Given the description of an element on the screen output the (x, y) to click on. 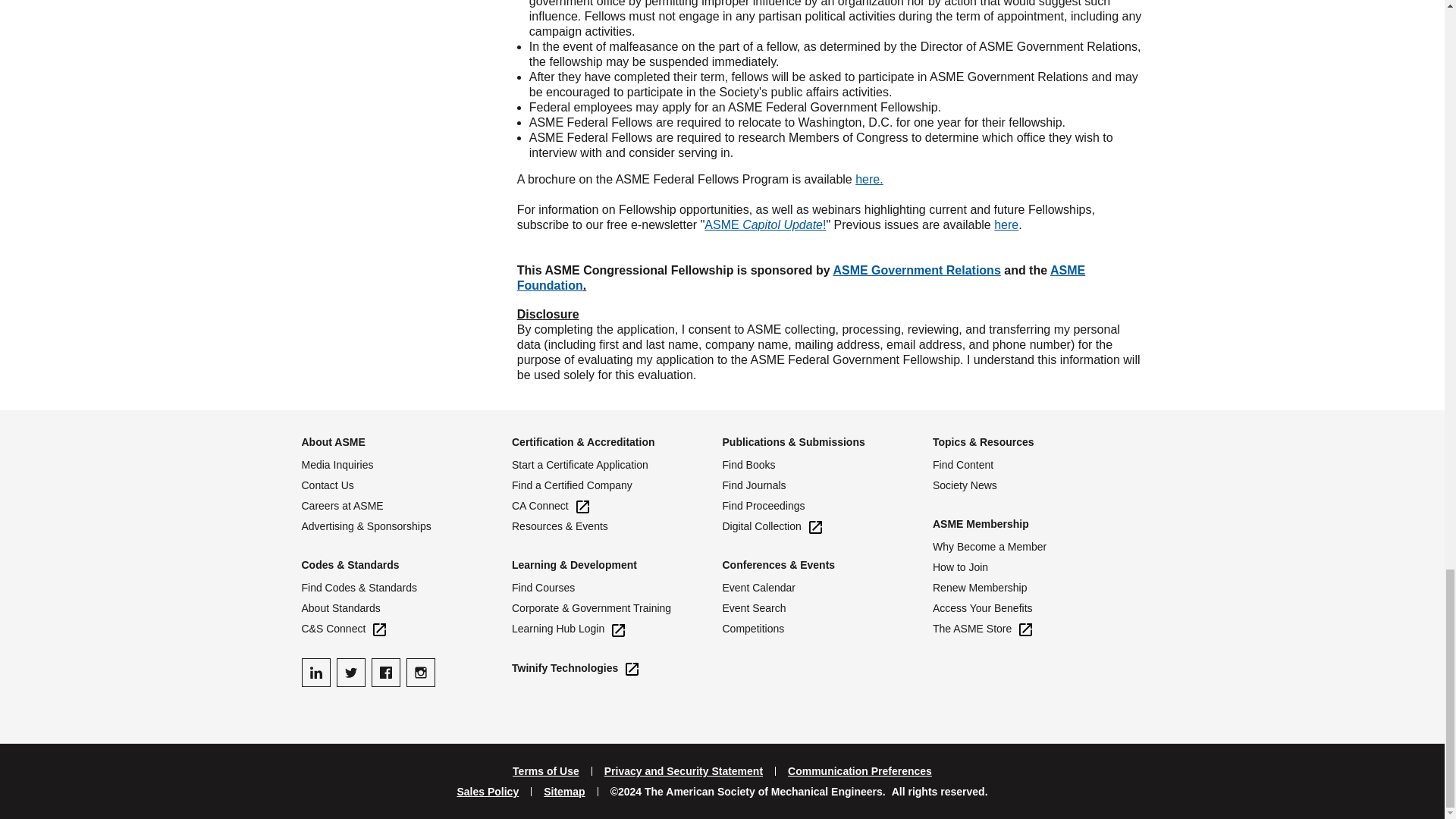
Contact Us (406, 485)
ASME Capitol Update! (764, 224)
ASME on Twitter (350, 672)
here (1005, 224)
ASME on Instagram (420, 672)
Careers at ASME (406, 505)
here. (869, 178)
About ASME (333, 441)
ASME Government Relations (916, 269)
ASME on LinkedIn (315, 672)
Media Inquiries (406, 464)
ASME Foundation (800, 277)
ASME on Facebook (385, 672)
